Given the description of an element on the screen output the (x, y) to click on. 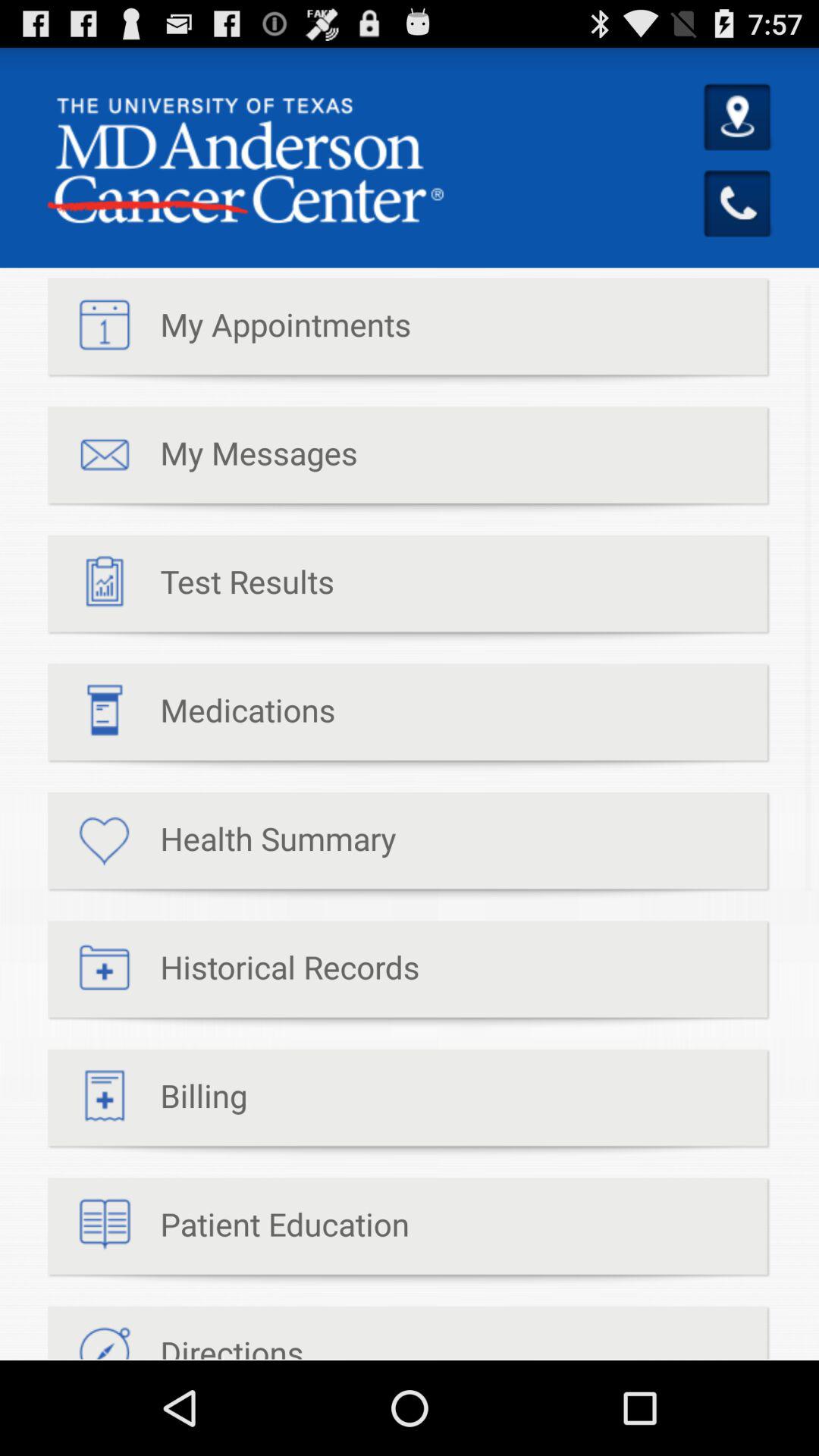
scroll to the test results (190, 589)
